Given the description of an element on the screen output the (x, y) to click on. 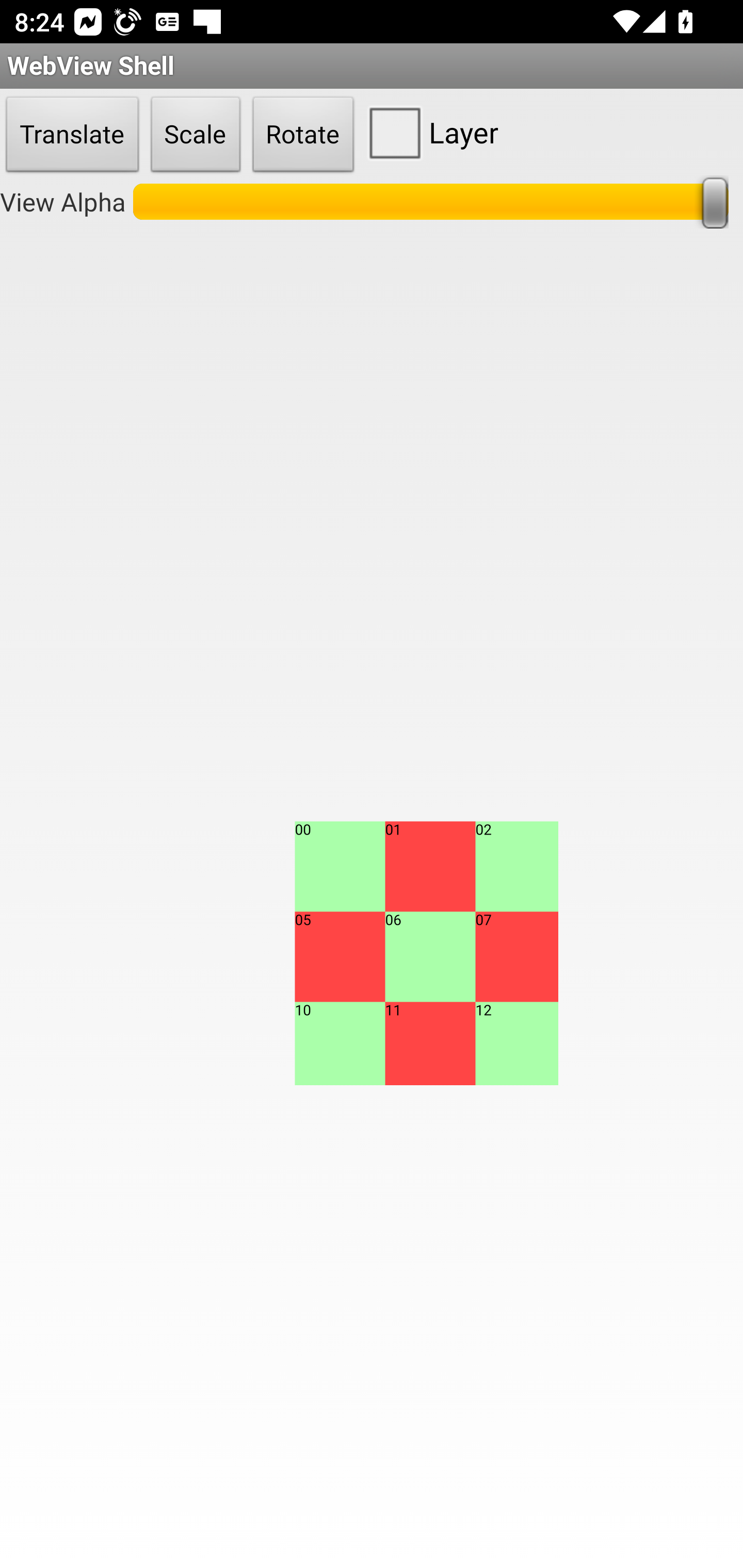
Layer (429, 132)
Translate (72, 135)
Scale (195, 135)
Rotate (303, 135)
